Given the description of an element on the screen output the (x, y) to click on. 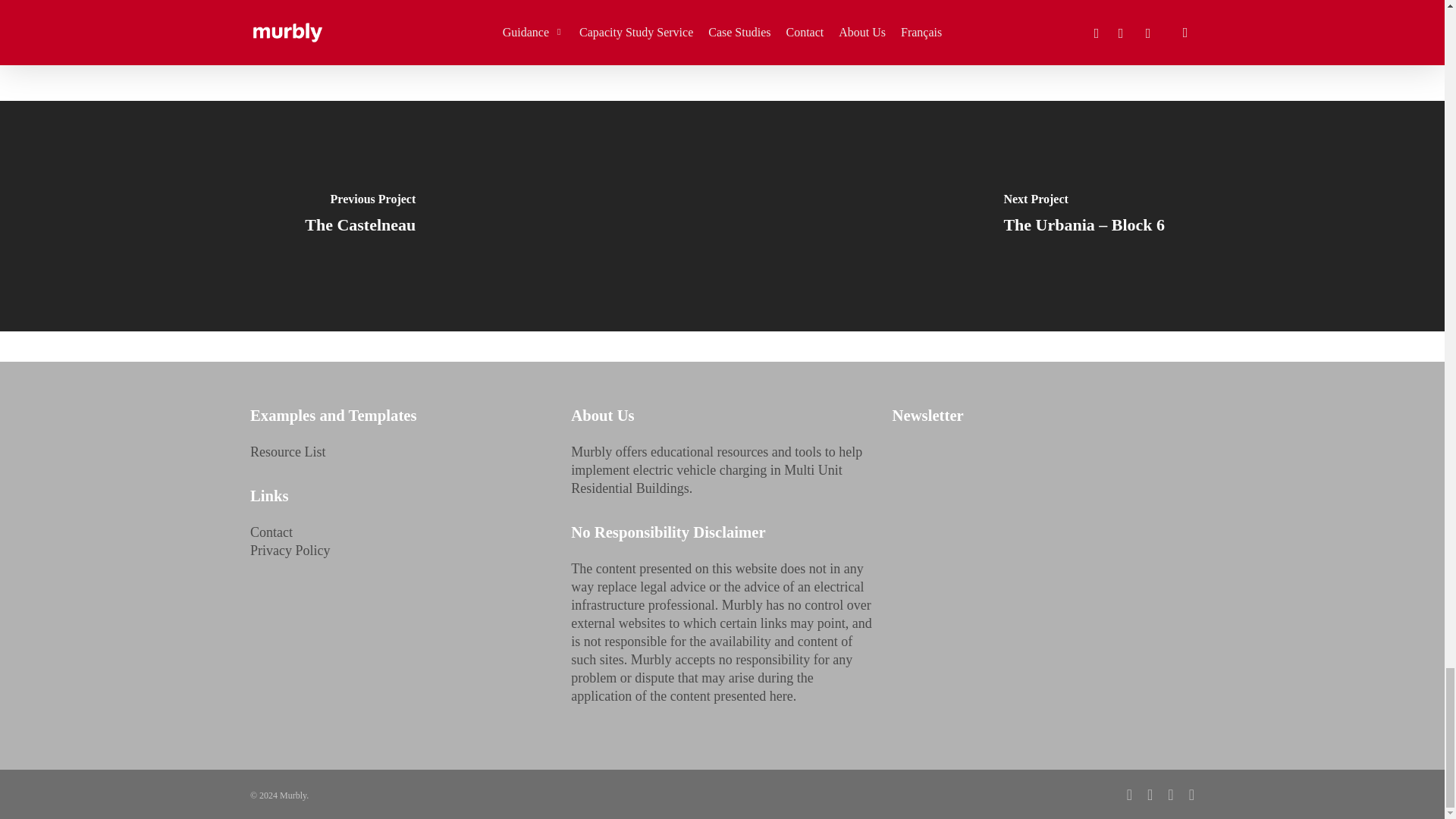
Resource List (287, 451)
Privacy Policy (290, 549)
Interior Parking (432, 11)
Contact (271, 531)
